Given the description of an element on the screen output the (x, y) to click on. 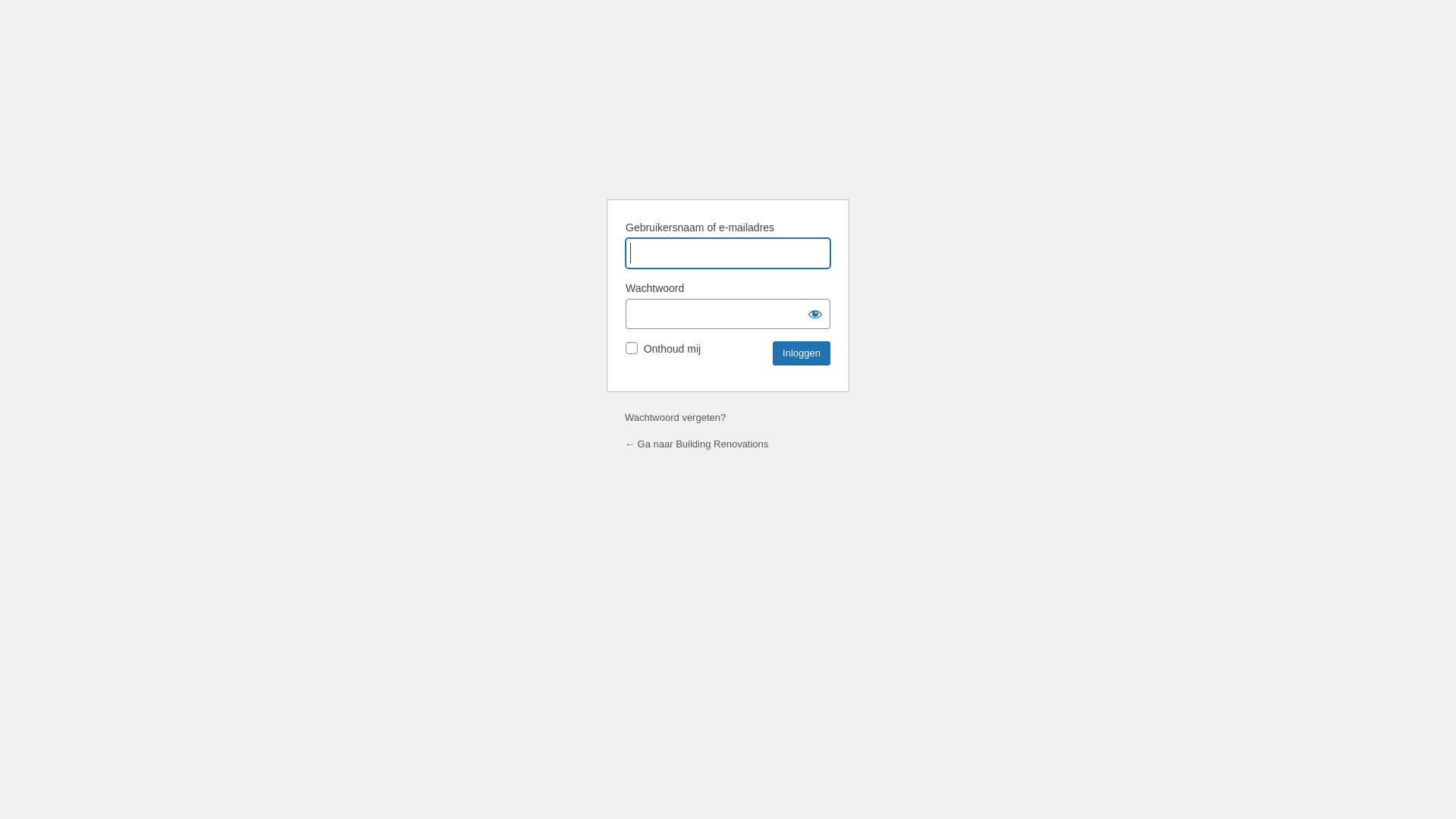
Wachtwoord vergeten? Element type: text (674, 417)
Mogelijk gemaakt door WordPress Element type: text (727, 148)
Inloggen Element type: text (801, 353)
